Given the description of an element on the screen output the (x, y) to click on. 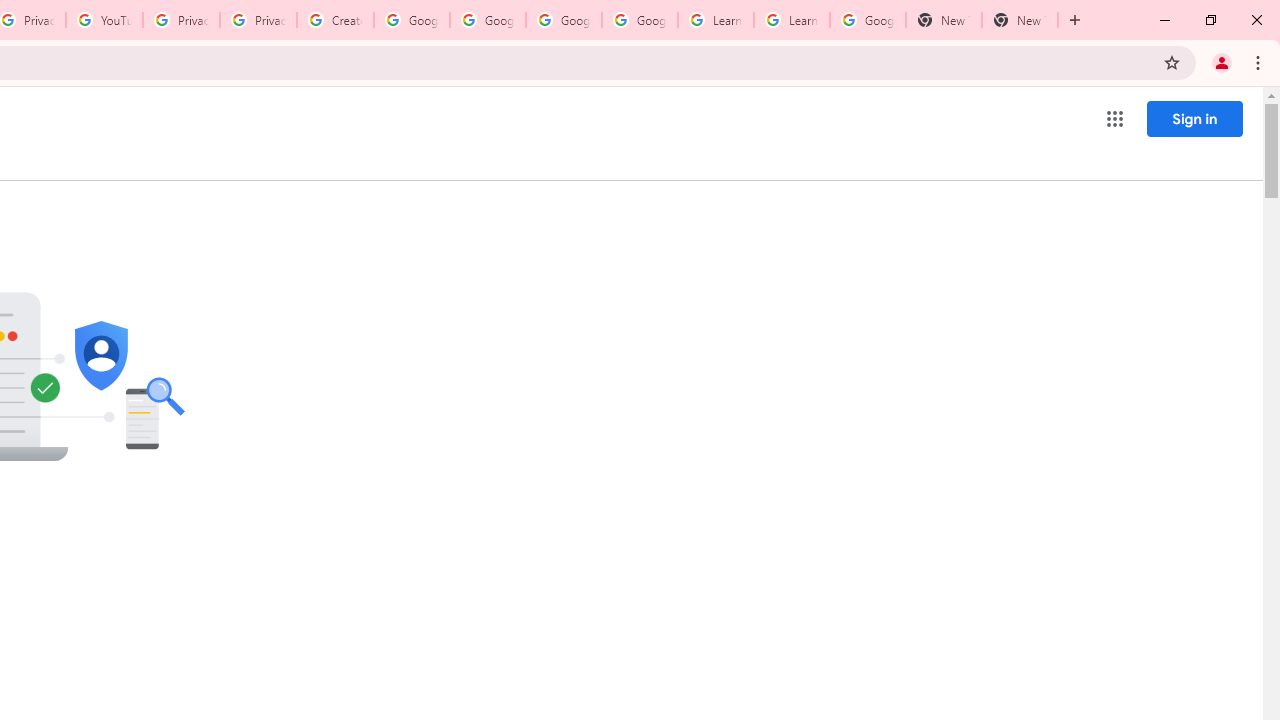
Google Account (867, 20)
Create your Google Account (335, 20)
New Tab (1019, 20)
Google Account Help (639, 20)
